Given the description of an element on the screen output the (x, y) to click on. 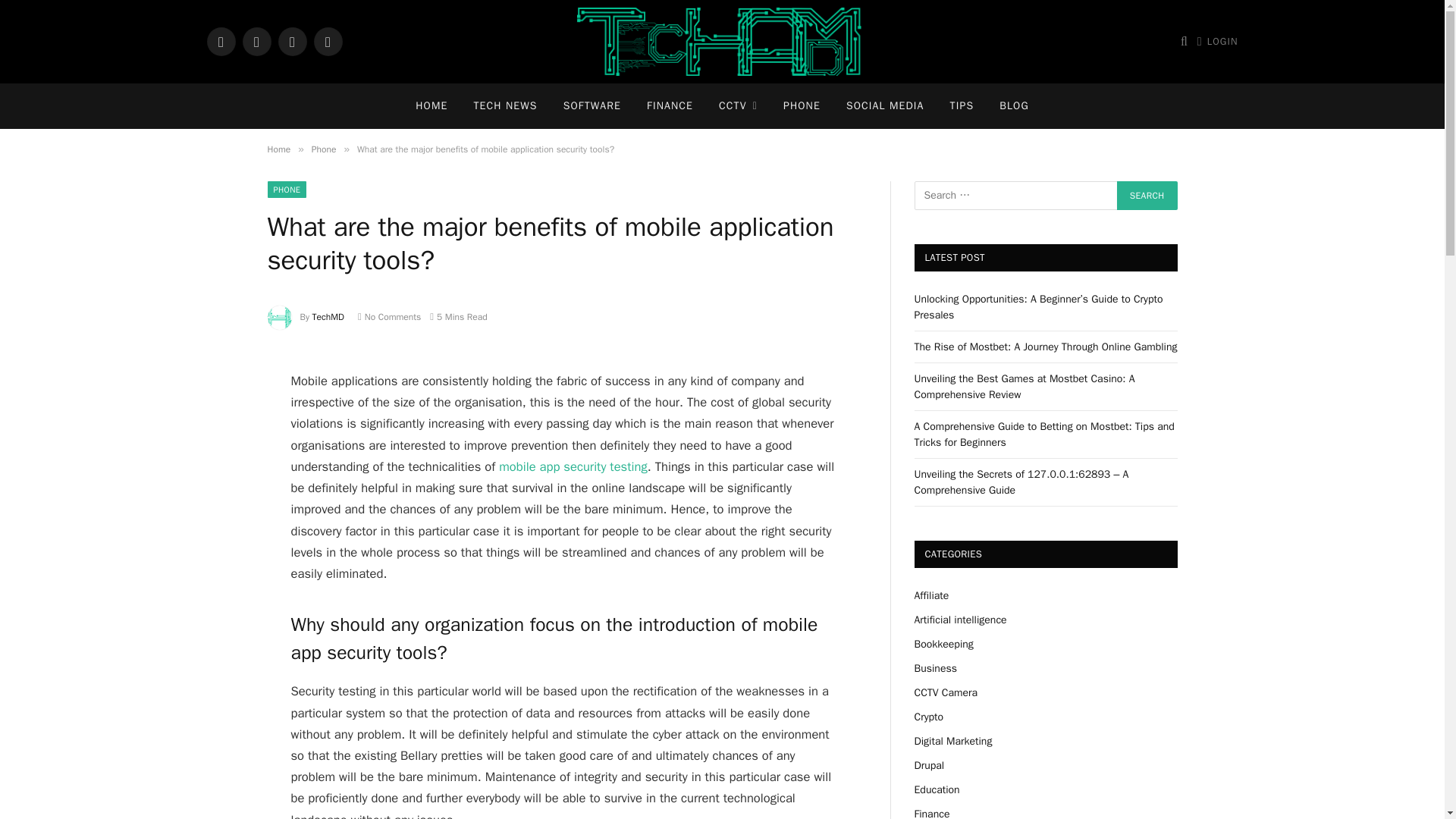
No Comments (389, 316)
TechMD (328, 316)
Search (1146, 194)
FINANCE (669, 105)
BLOG (1014, 105)
PHONE (285, 189)
Pinterest (328, 41)
Home (277, 149)
Facebook (220, 41)
CCTV (738, 105)
